Given the description of an element on the screen output the (x, y) to click on. 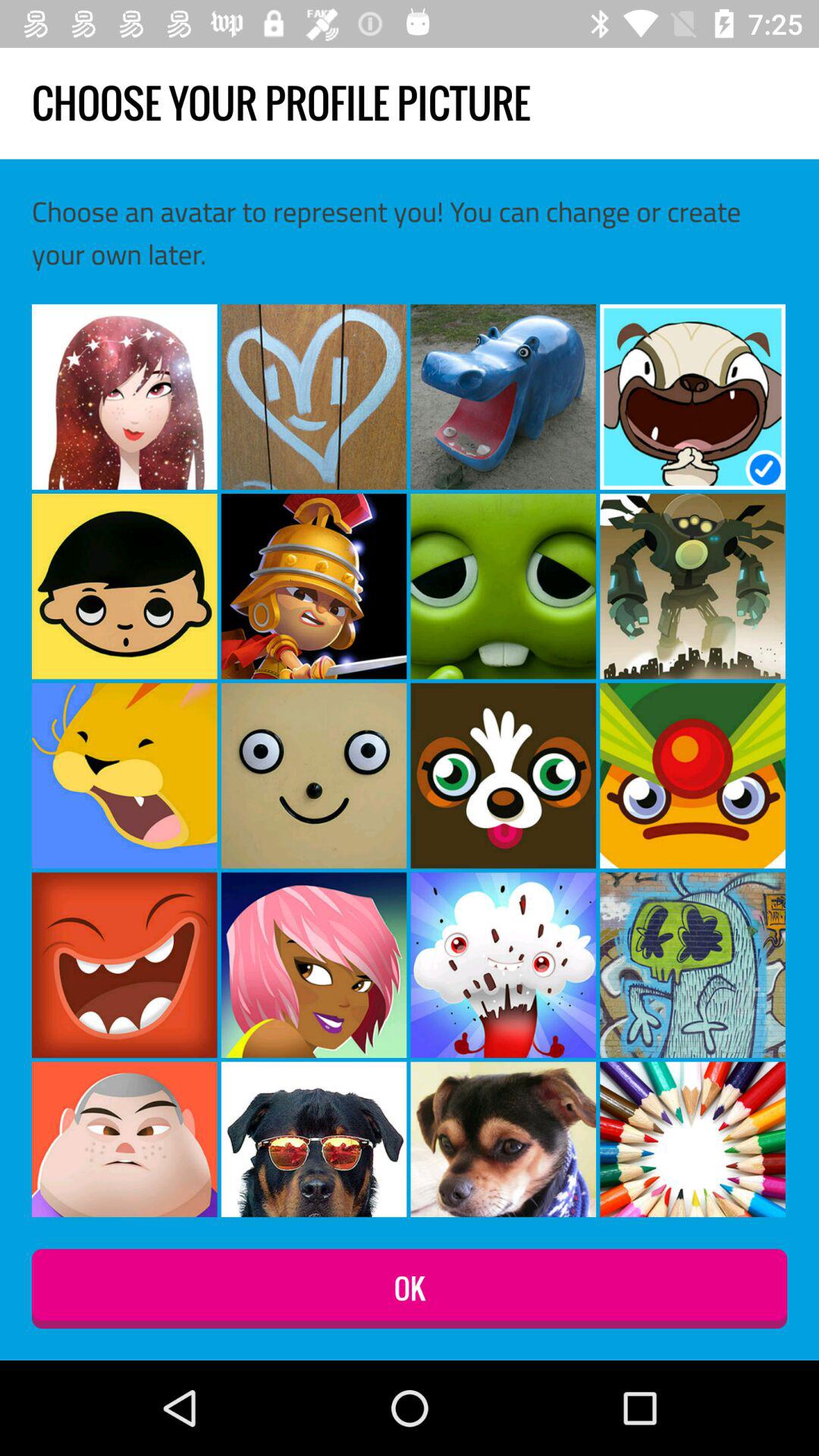
turn off ok item (409, 1288)
